Given the description of an element on the screen output the (x, y) to click on. 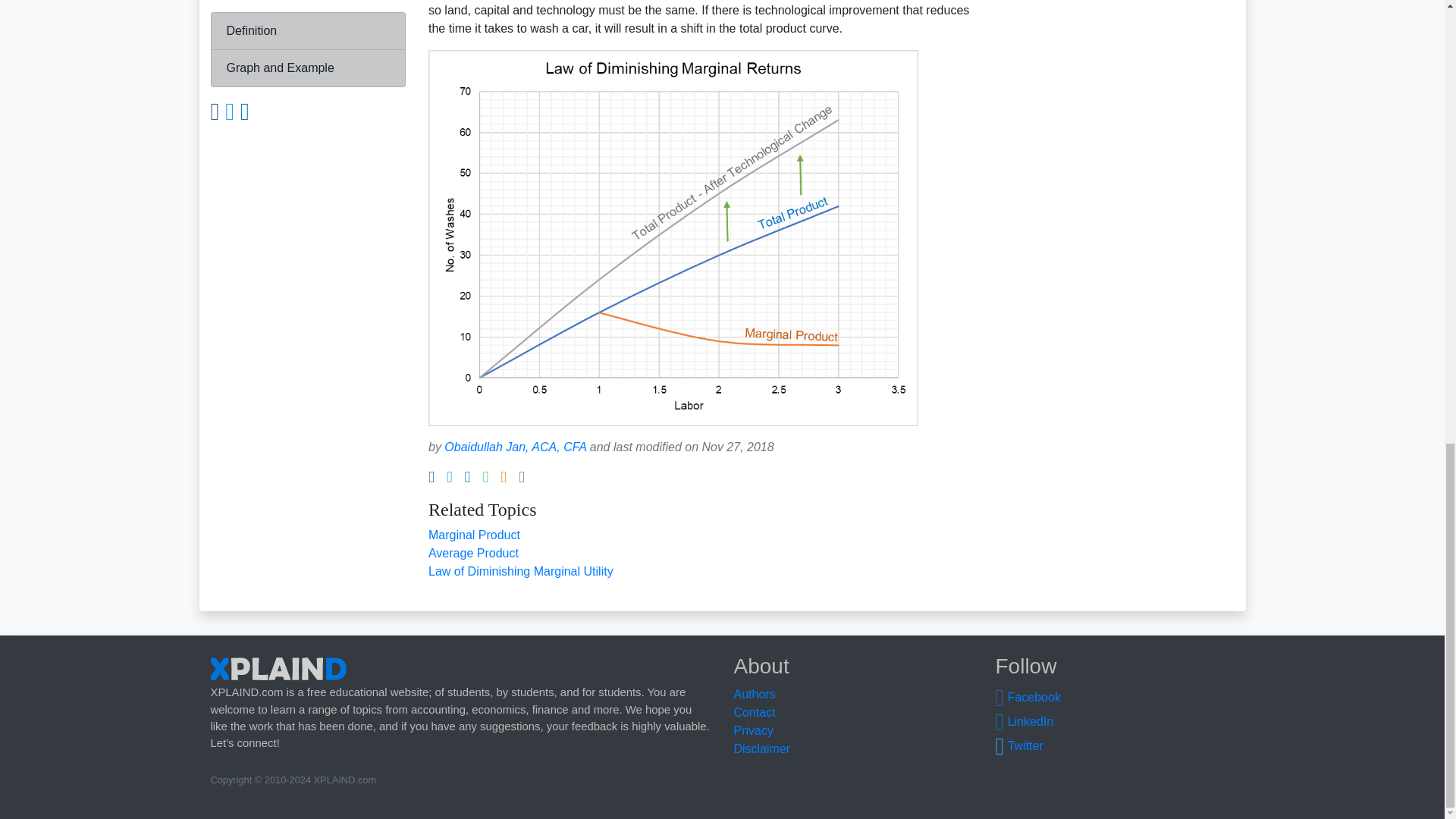
Advertisement (1108, 100)
